Given the description of an element on the screen output the (x, y) to click on. 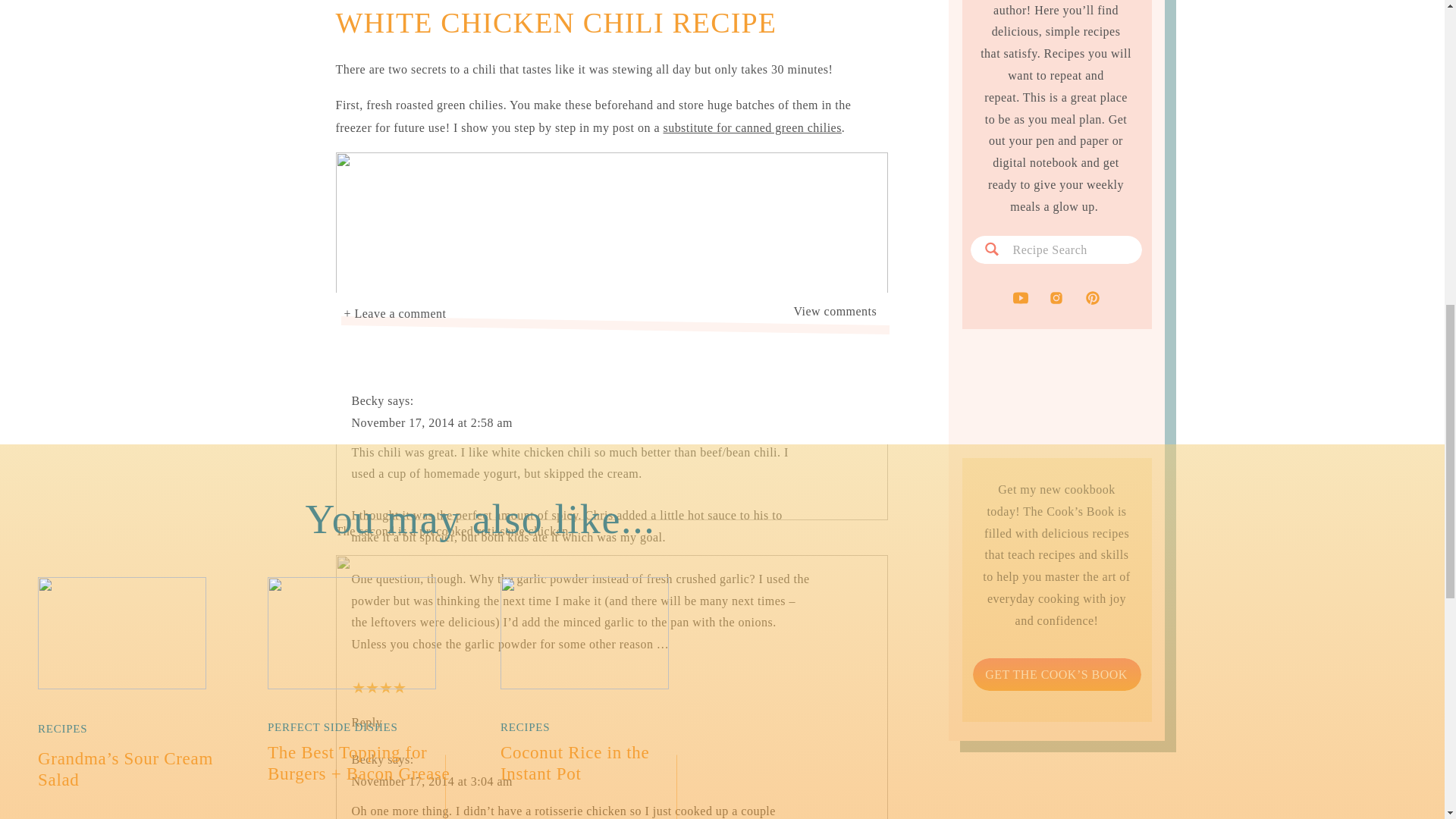
substitute for canned green chilies (751, 127)
